Given the description of an element on the screen output the (x, y) to click on. 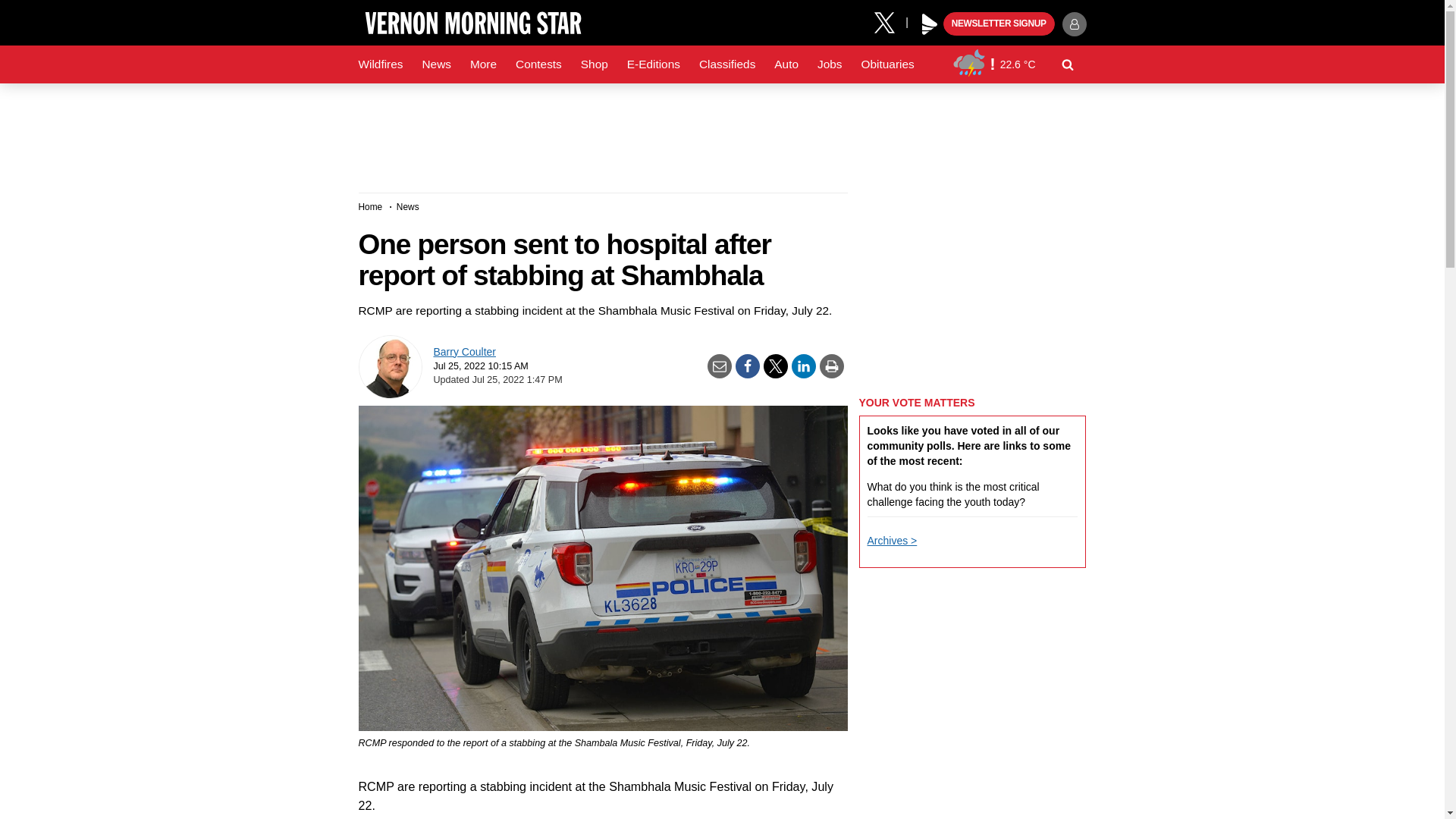
Play (929, 24)
X (889, 21)
Wildfires (380, 64)
NEWSLETTER SIGNUP (998, 24)
Black Press Media (929, 24)
News (435, 64)
